Given the description of an element on the screen output the (x, y) to click on. 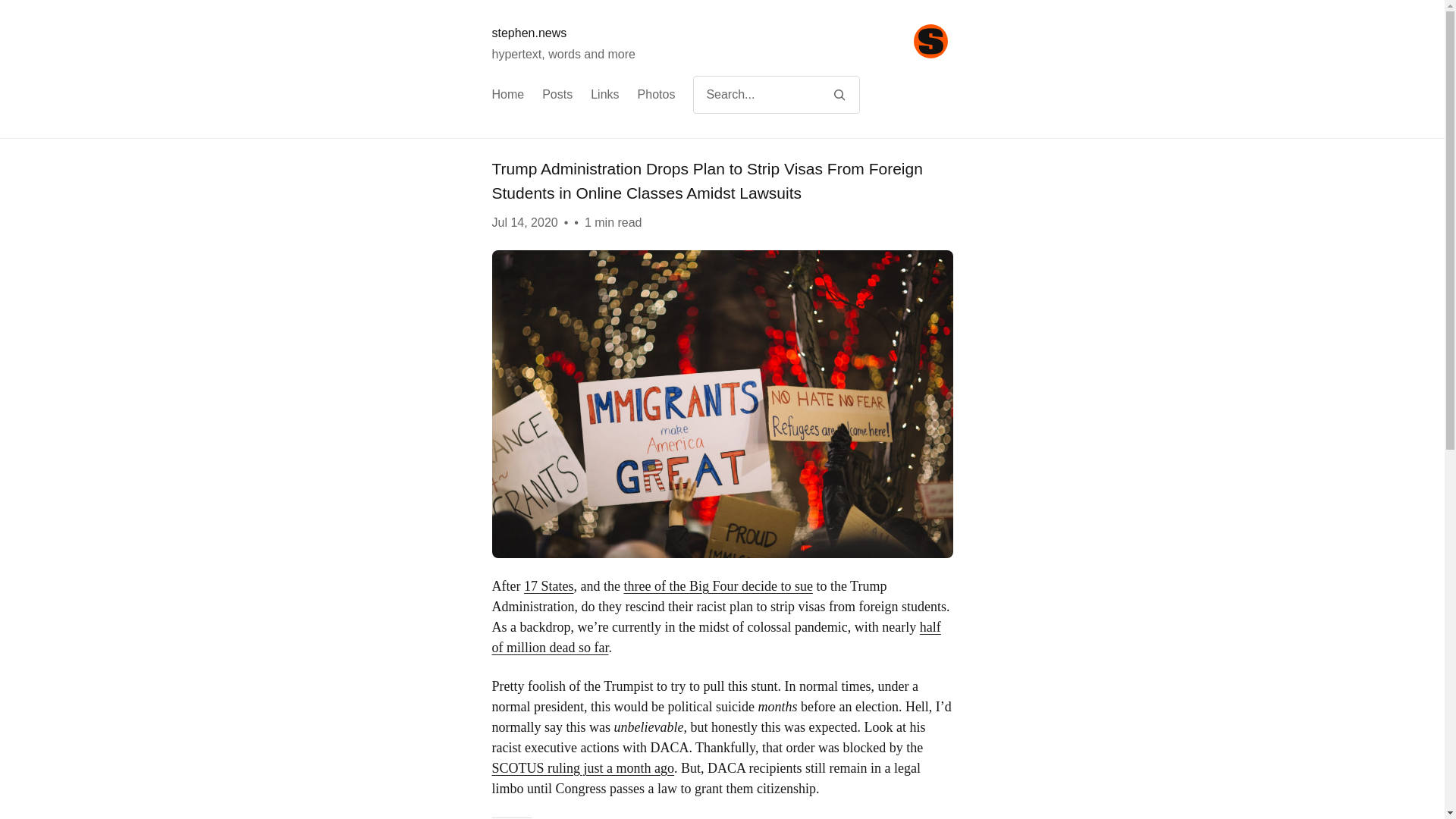
Home (508, 94)
three of the Big Four decide to sue (717, 585)
Photos (656, 94)
stephen.news (529, 32)
17 States (548, 585)
Links (604, 94)
half of million dead so far (716, 637)
Posts (556, 94)
SCOTUS ruling just a month ago (583, 767)
